Given the description of an element on the screen output the (x, y) to click on. 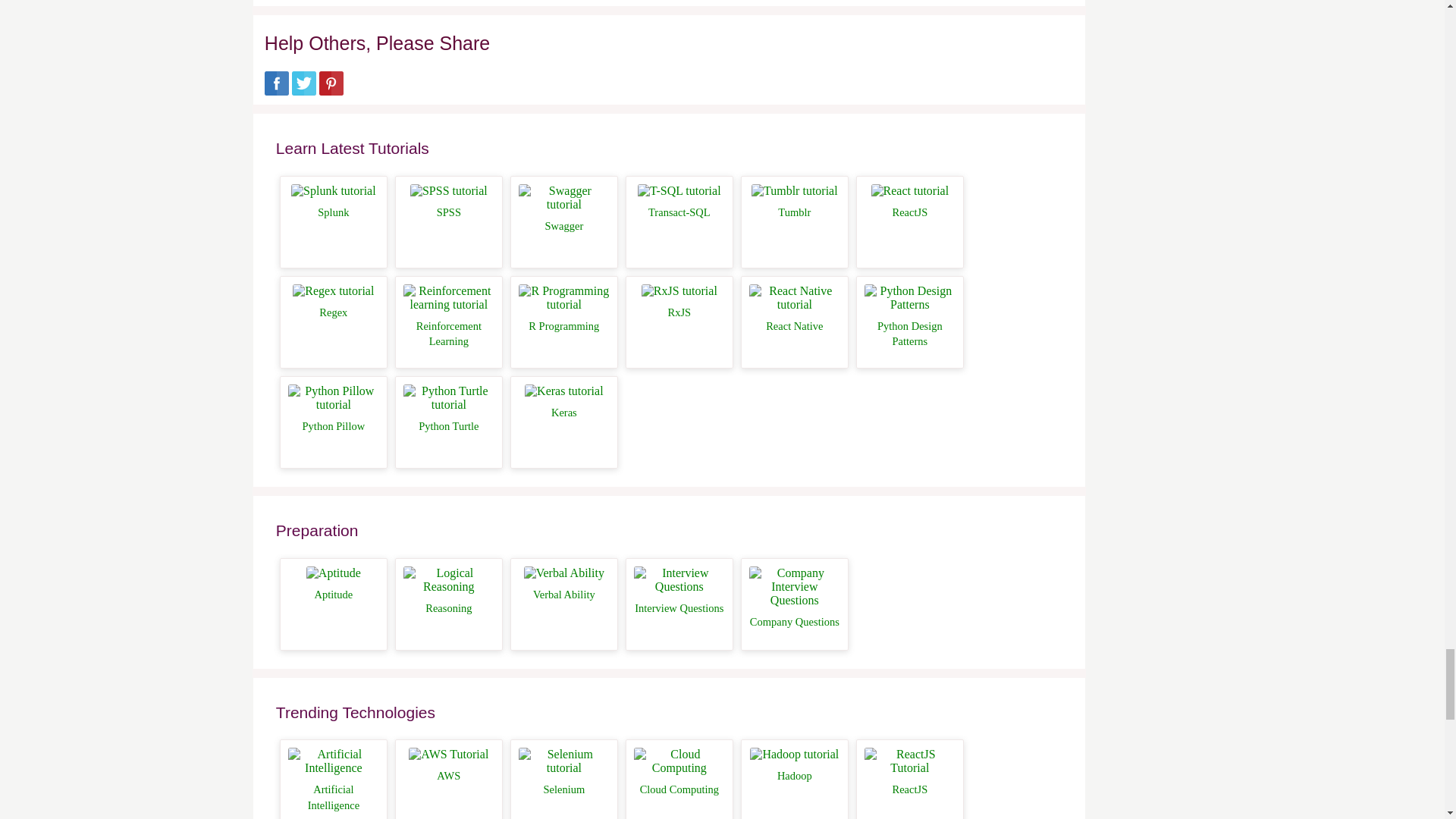
Pinterest (330, 91)
Facebook (276, 91)
Twitter (303, 91)
